Given the description of an element on the screen output the (x, y) to click on. 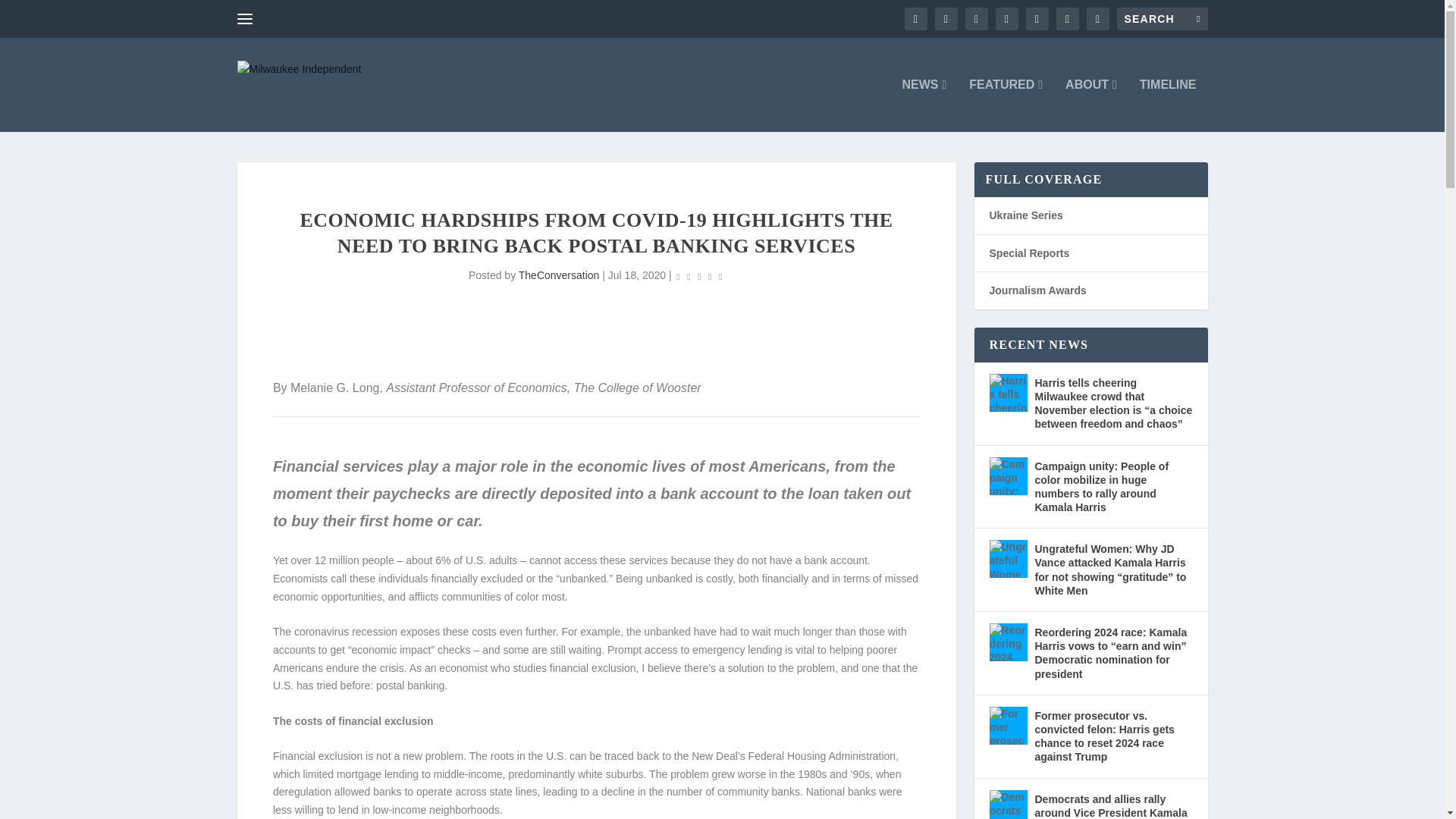
ABOUT (1090, 104)
Posts by TheConversation (558, 275)
Rating: 0.00 (700, 275)
Search for: (1161, 18)
TheConversation (558, 275)
NEWS (923, 104)
FEATURED (1005, 104)
TIMELINE (1168, 104)
